Given the description of an element on the screen output the (x, y) to click on. 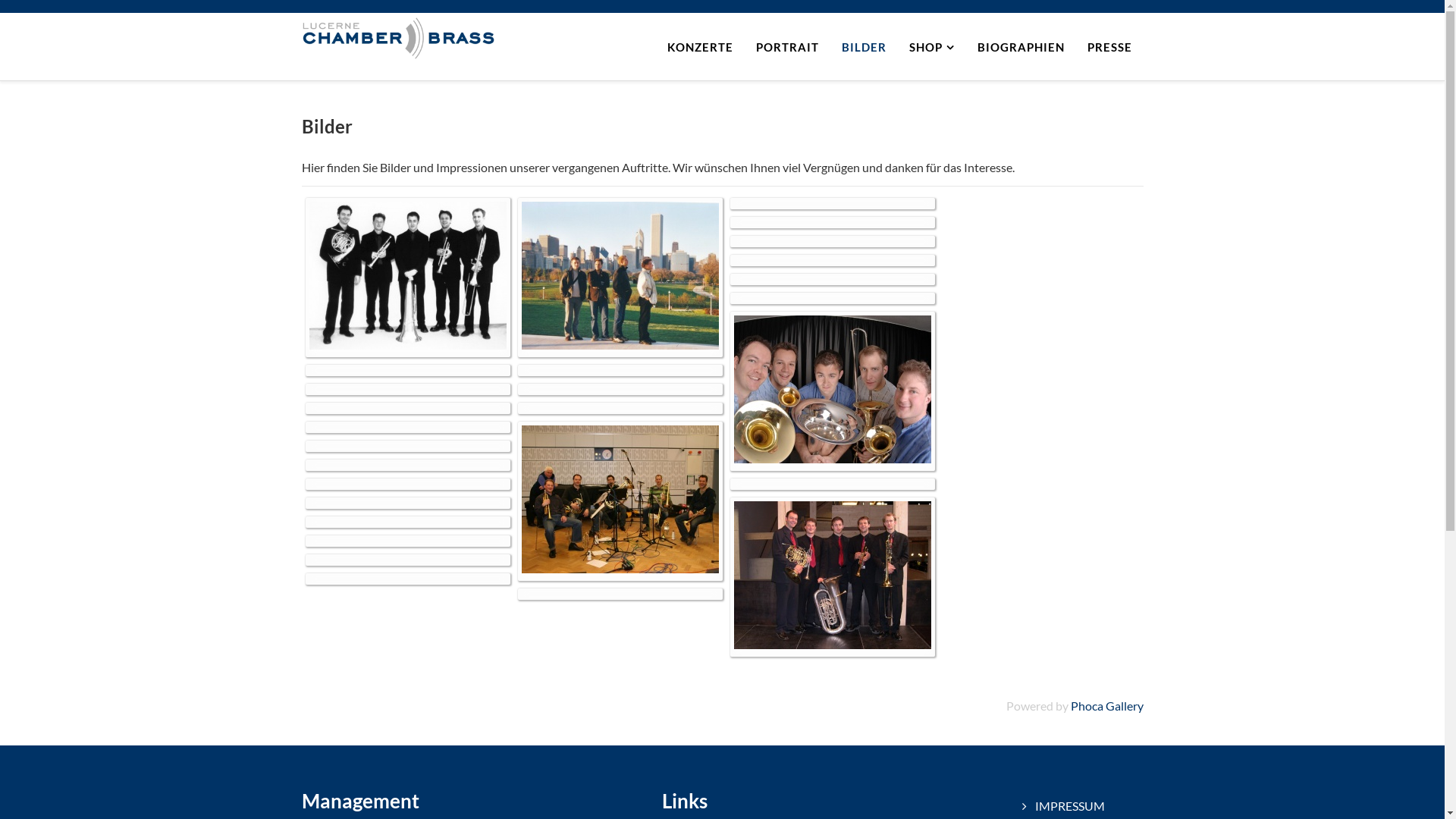
BIOGRAPHIEN Element type: text (1021, 46)
Phoca Gallery Element type: text (1106, 705)
KONZERTE Element type: text (699, 46)
PRESSE Element type: text (1108, 46)
BILDER Element type: text (863, 46)
PORTRAIT Element type: text (787, 46)
SHOP Element type: text (931, 46)
